Given the description of an element on the screen output the (x, y) to click on. 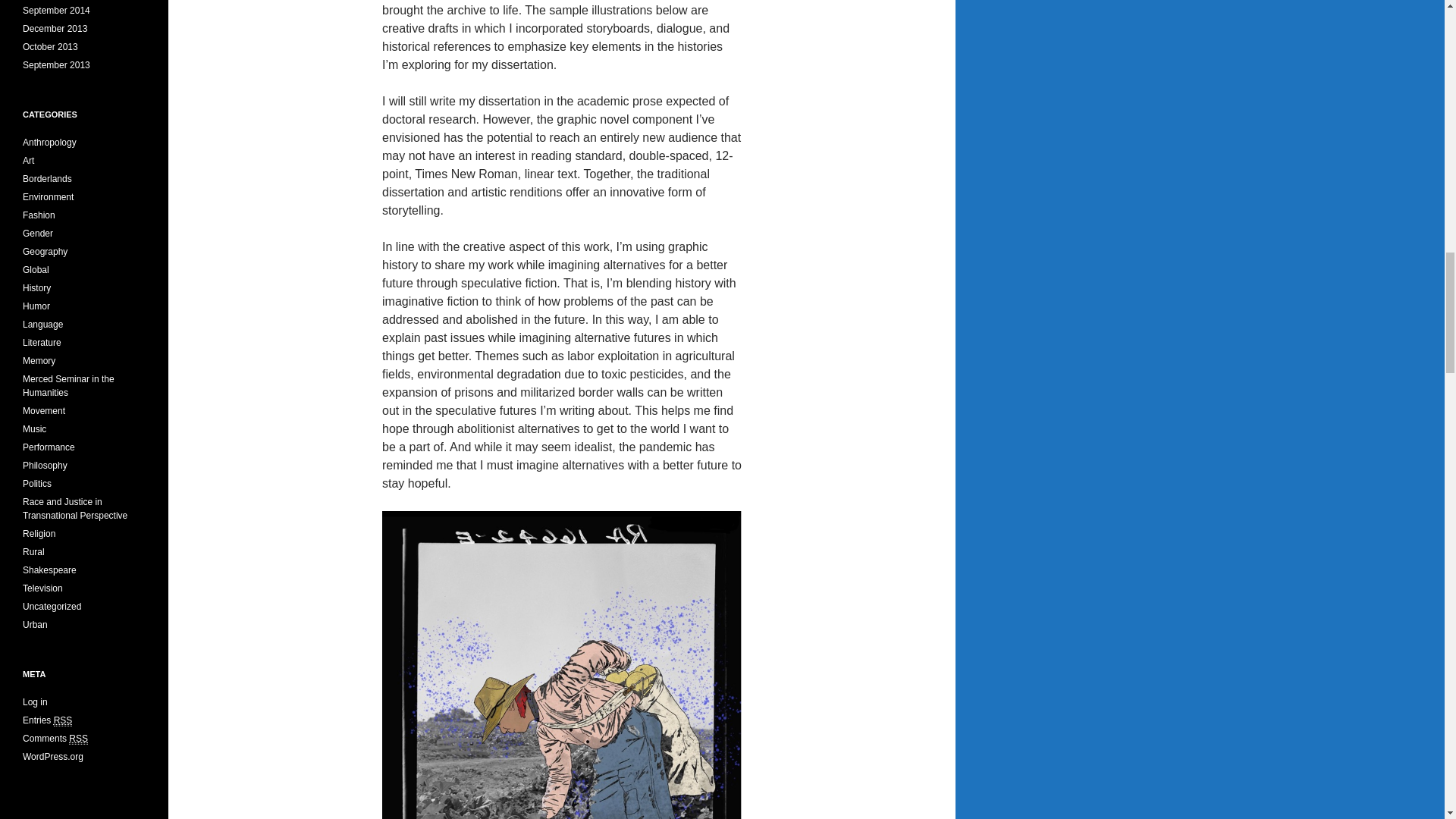
Really Simple Syndication (62, 720)
Really Simple Syndication (77, 738)
